Given the description of an element on the screen output the (x, y) to click on. 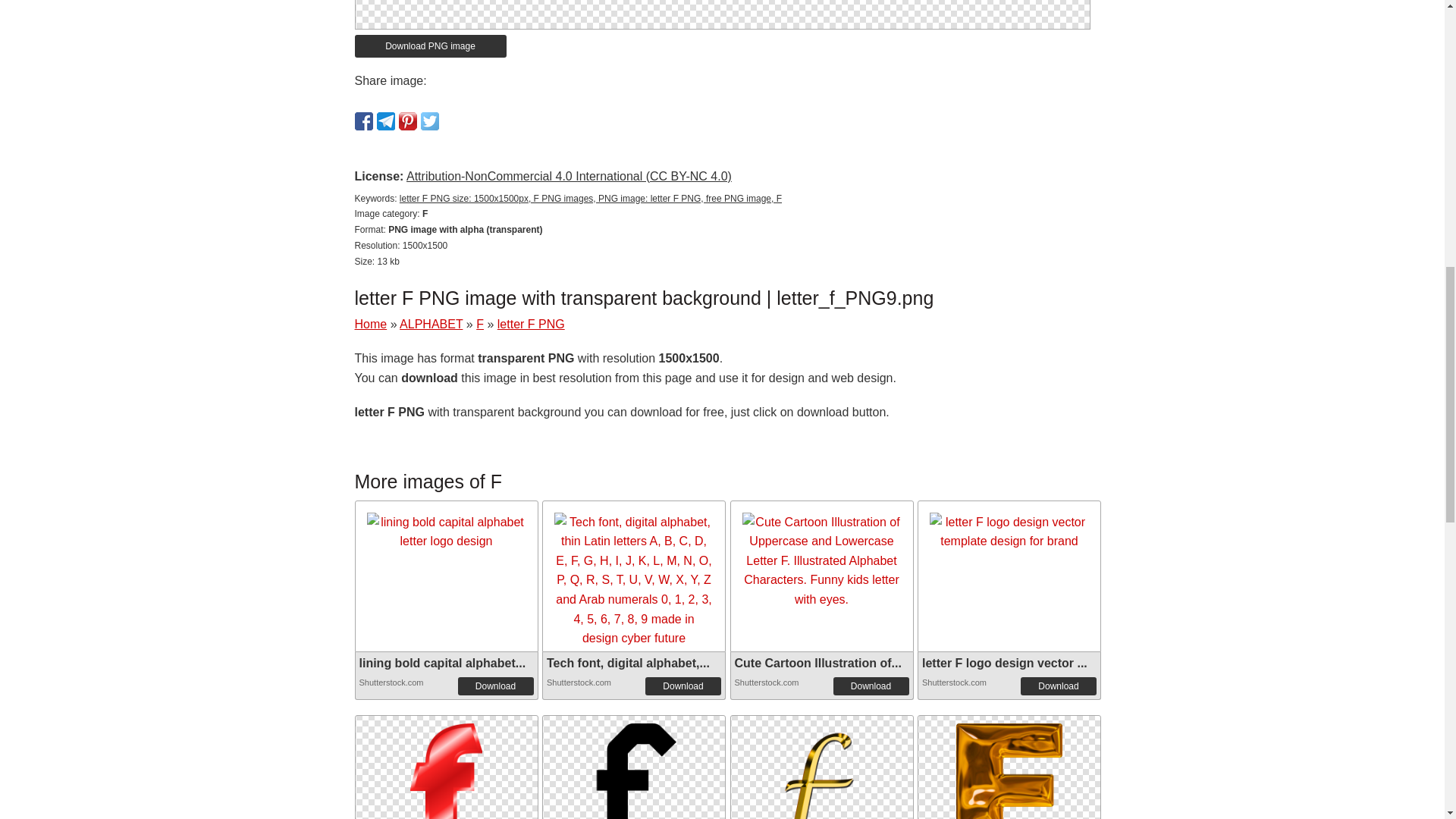
Download (682, 686)
lining bold capital alphabet letter logo design (445, 531)
lining bold capital alphabet... (442, 662)
letter F PNG (821, 786)
Download PNG image (430, 46)
ALPHABET (430, 323)
Download (870, 686)
Tweet (429, 121)
letter F PNG (722, 3)
letter F PNG (530, 323)
letter F PNG (821, 767)
Share in Telegram (384, 121)
letter F PNG (445, 786)
Home (371, 323)
